Given the description of an element on the screen output the (x, y) to click on. 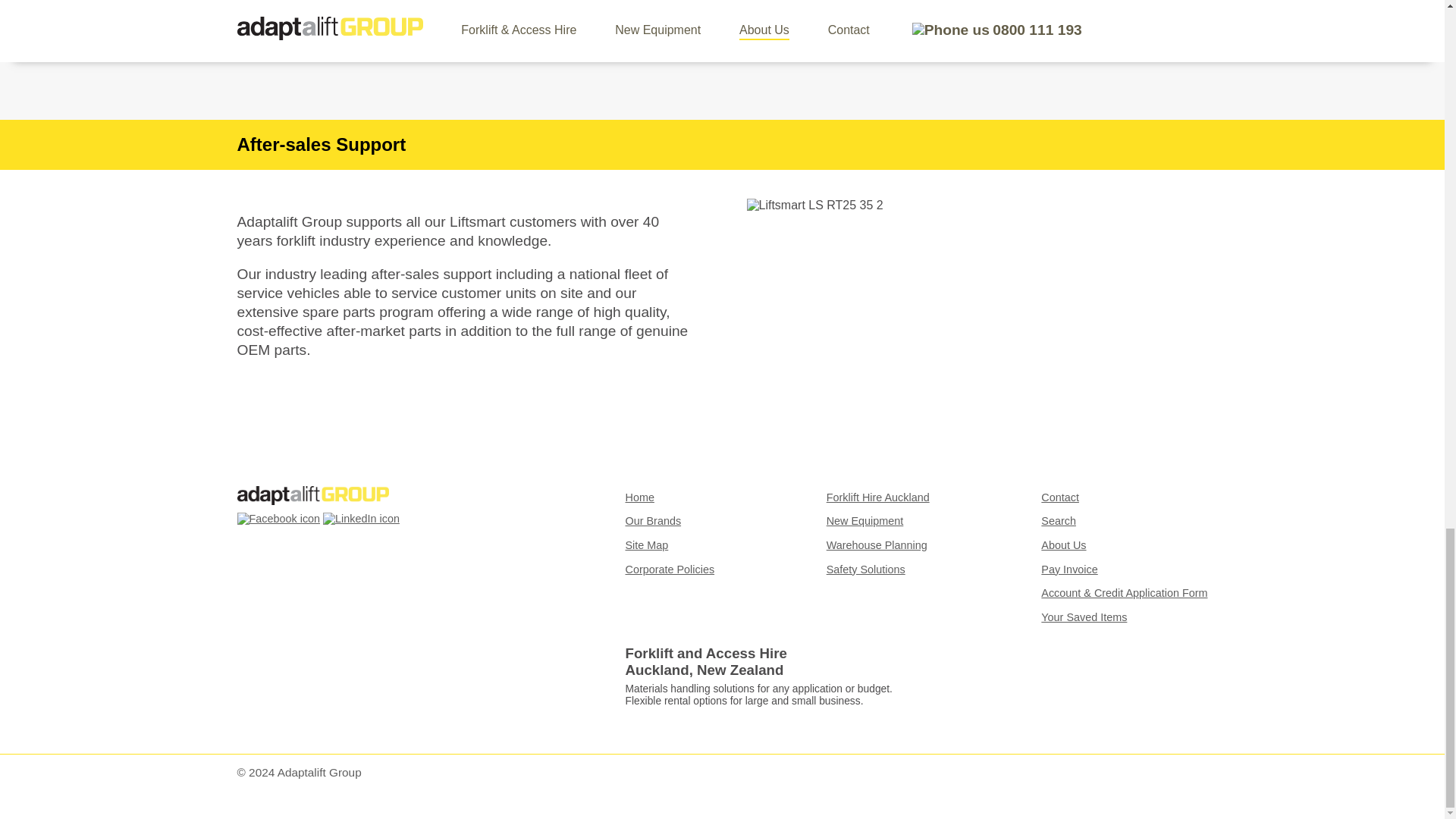
Liftsmart LS RT25 35 2 (813, 205)
Warehouse Planning (877, 544)
Our Brands (652, 521)
Site Map (646, 544)
New Equipment (865, 521)
Corporate Policies (669, 569)
Home (638, 497)
Forklift Hire Auckland (878, 497)
Liftsmart LS RT25 35 4 (976, 16)
